Given the description of an element on the screen output the (x, y) to click on. 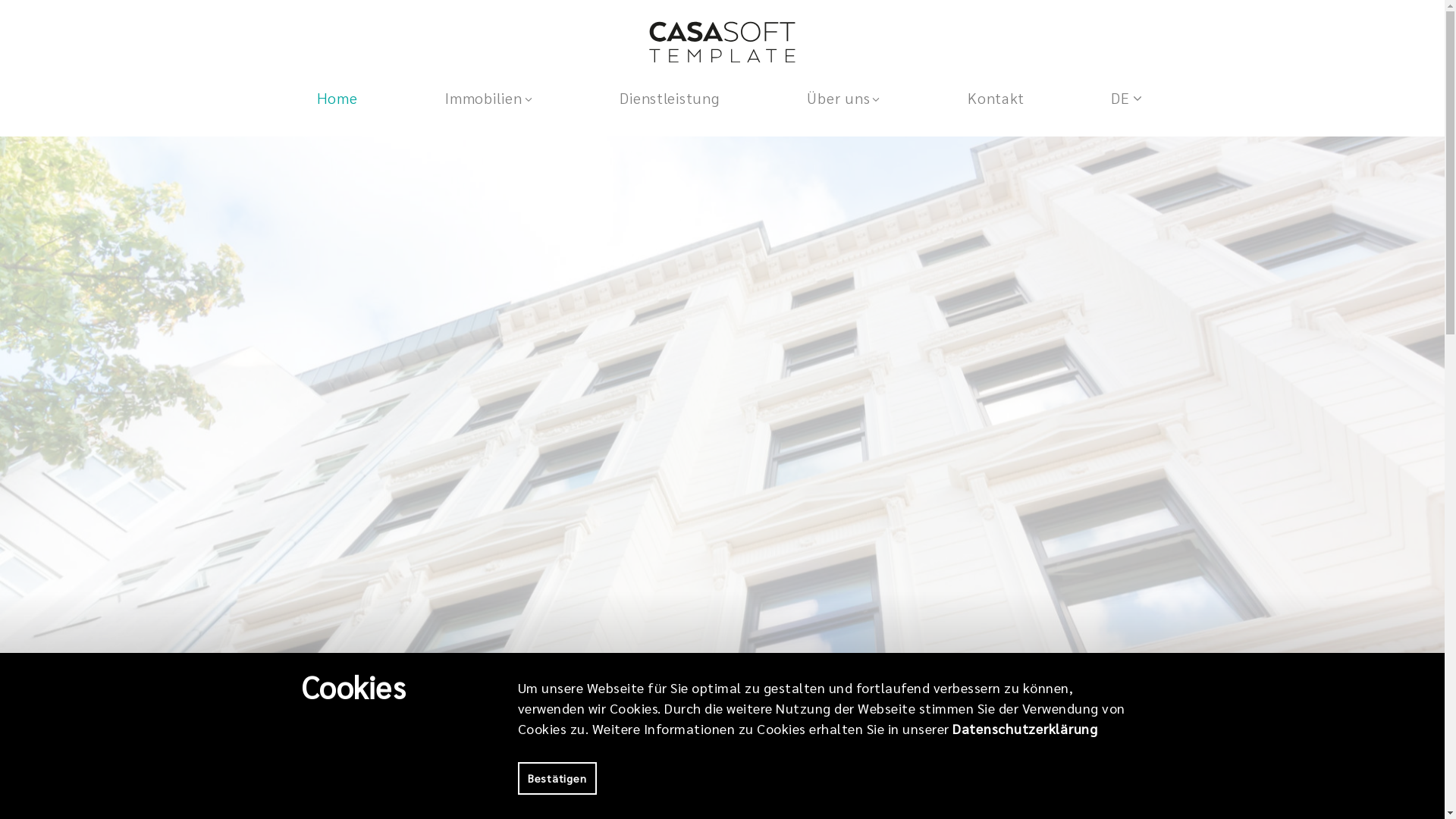
DE Element type: text (1090, 98)
Home Element type: text (336, 97)
Kontakt Element type: text (995, 97)
Immobilien Element type: text (488, 97)
Dienstleistung Element type: text (668, 97)
